Given the description of an element on the screen output the (x, y) to click on. 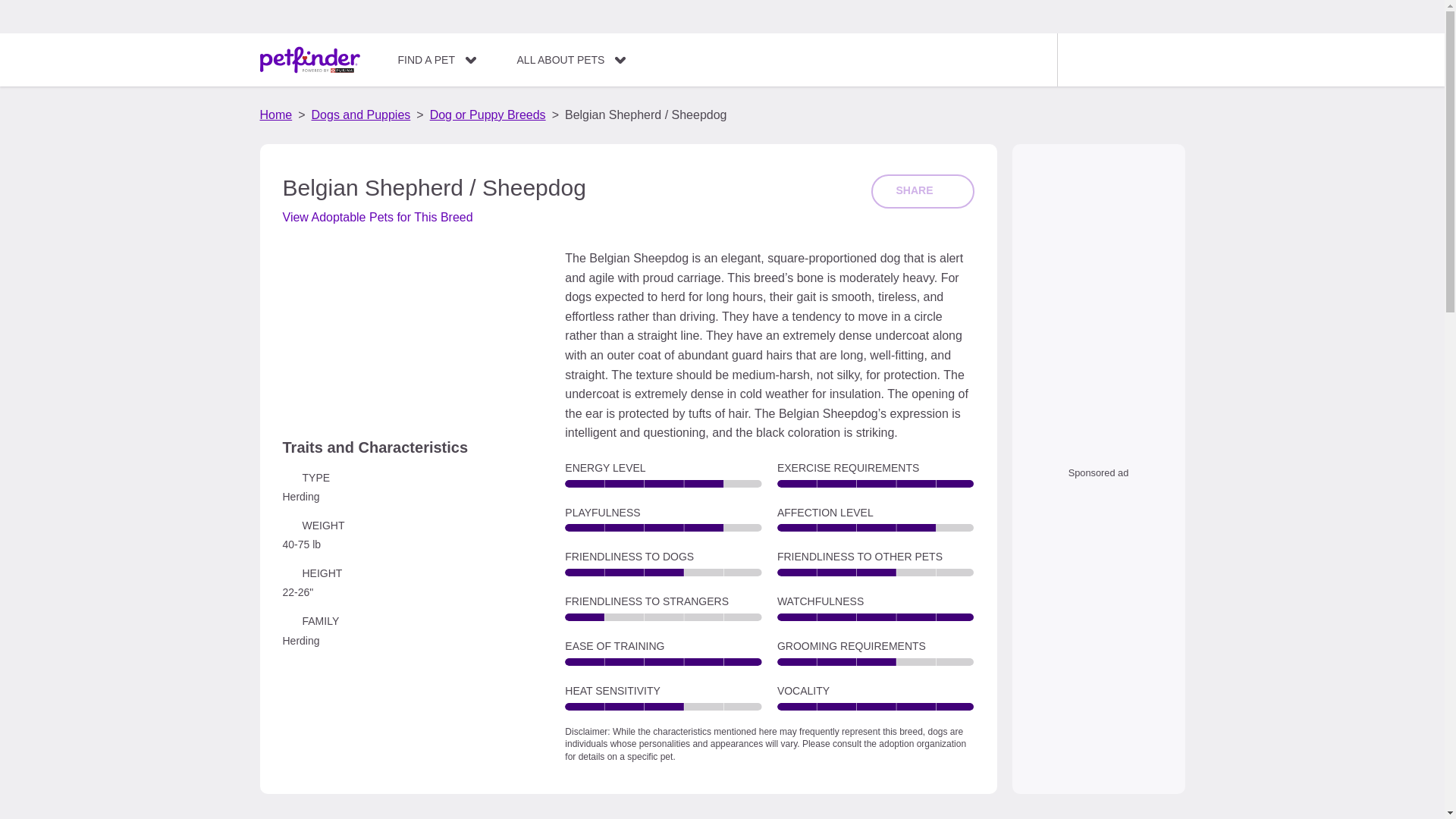
Petfinder Logo (309, 59)
ALL ABOUT PETS (571, 59)
FIND A PET (436, 59)
